Given the description of an element on the screen output the (x, y) to click on. 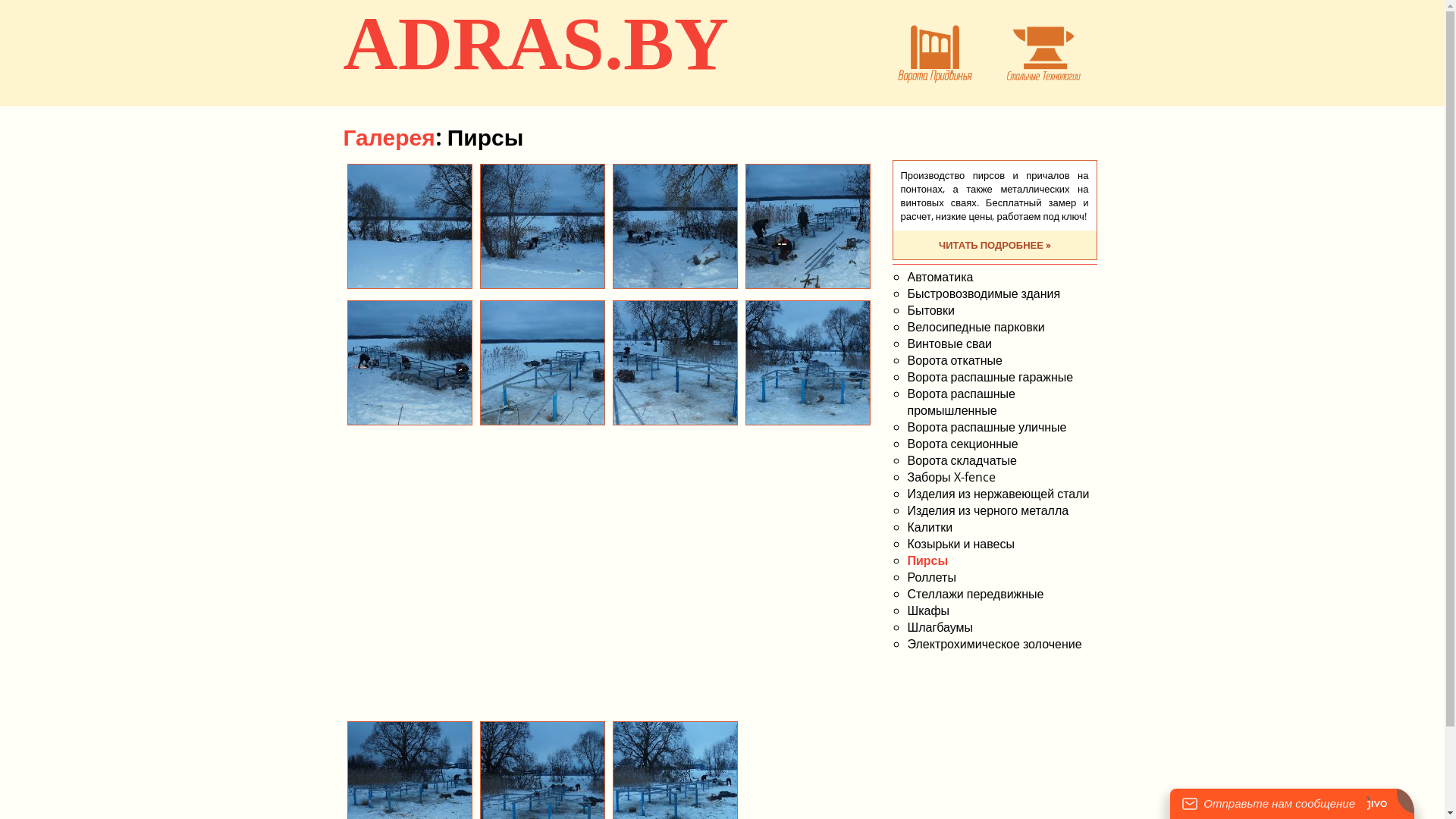
Advertisement Element type: hover (607, 611)
ADRAS.BY Element type: text (535, 43)
Advertisement Element type: hover (608, 467)
